Given the description of an element on the screen output the (x, y) to click on. 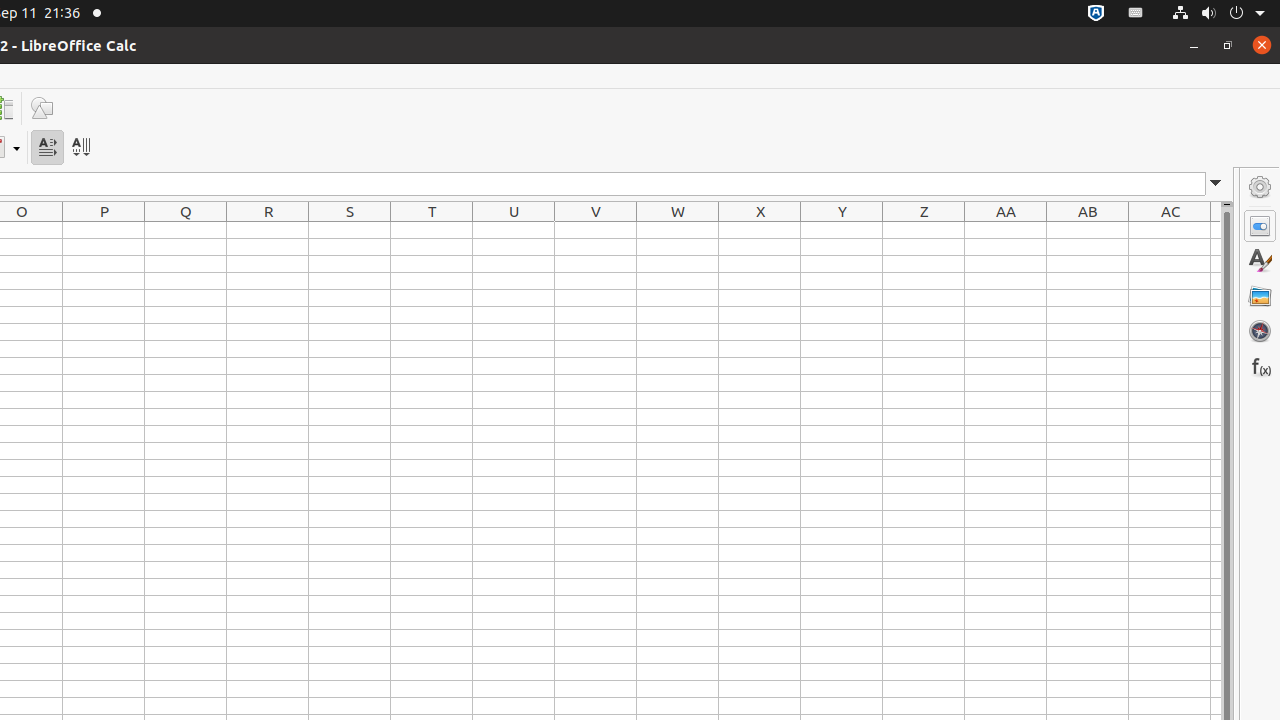
Text direction from left to right Element type: toggle-button (47, 147)
Draw Functions Element type: toggle-button (41, 108)
P1 Element type: table-cell (104, 230)
W1 Element type: table-cell (678, 230)
Q1 Element type: table-cell (186, 230)
